Given the description of an element on the screen output the (x, y) to click on. 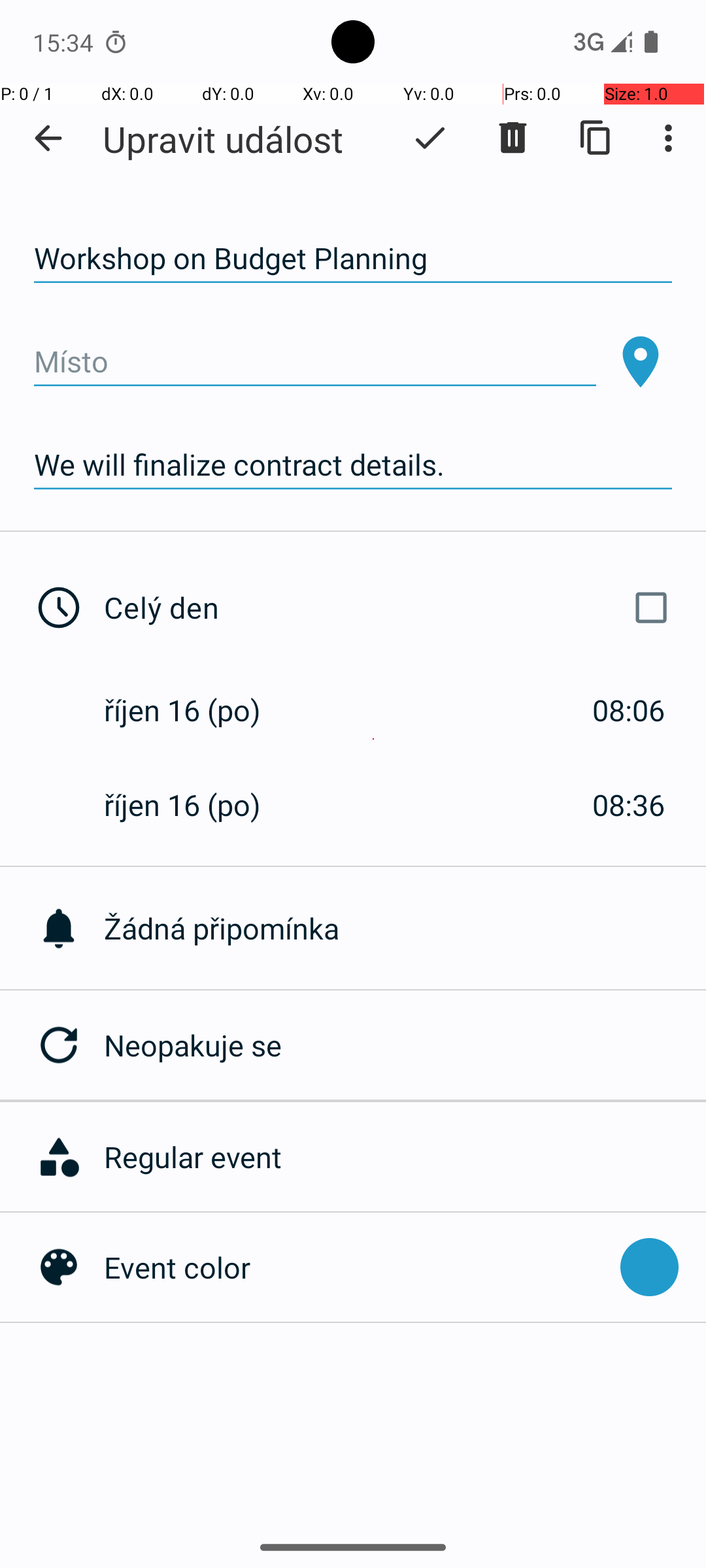
Upravit událost Element type: android.widget.TextView (222, 138)
Uložit Element type: android.widget.Button (429, 137)
Smazat Element type: android.widget.Button (512, 137)
Zkopírovat událost Element type: android.widget.Button (595, 137)
Místo Element type: android.widget.EditText (314, 361)
We will finalize contract details. Element type: android.widget.EditText (352, 465)
říjen 16 (po) Element type: android.widget.TextView (195, 709)
08:06 Element type: android.widget.TextView (628, 709)
08:36 Element type: android.widget.TextView (628, 804)
Žádná připomínka Element type: android.widget.TextView (404, 927)
Neopakuje se Element type: android.widget.TextView (404, 1044)
Celý den Element type: android.widget.CheckBox (390, 607)
